Given the description of an element on the screen output the (x, y) to click on. 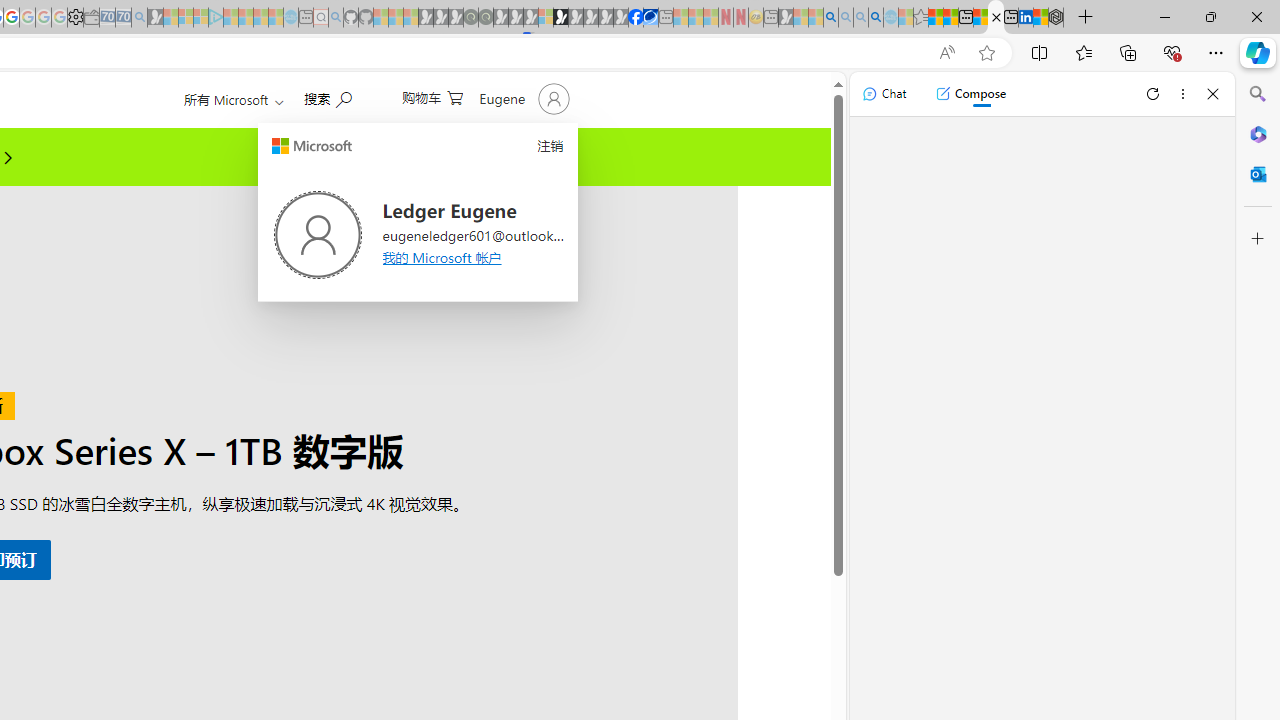
Search (1258, 94)
LinkedIn (1025, 17)
Collections (1128, 52)
Google Chrome Internet Browser Download - Search Images (876, 17)
AQI & Health | AirNow.gov (650, 17)
Close (1213, 93)
Home | Sky Blue Bikes - Sky Blue Bikes - Sleeping (291, 17)
